Given the description of an element on the screen output the (x, y) to click on. 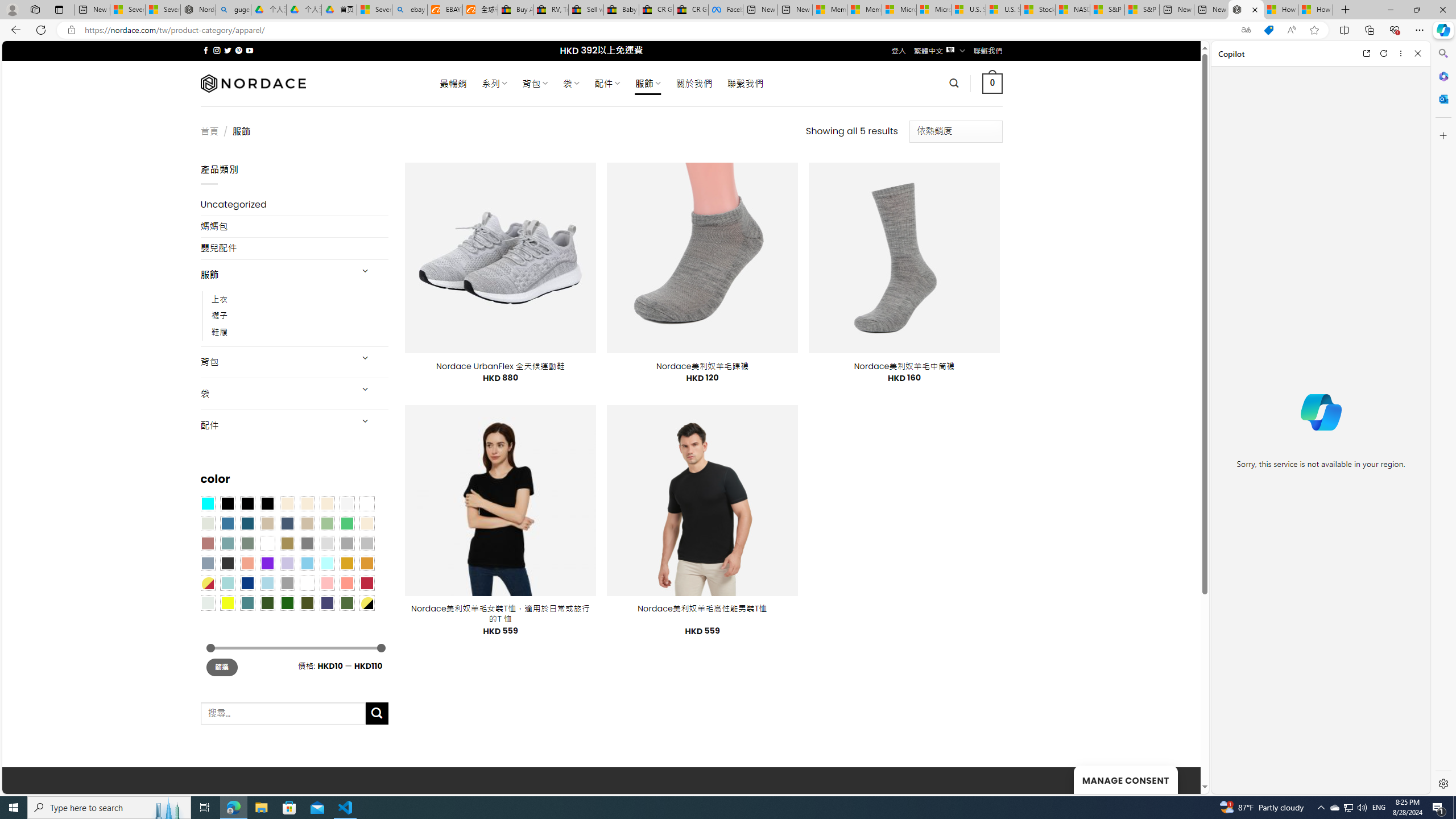
Dull Nickle (207, 602)
Customize (1442, 135)
Follow on Instagram (216, 50)
Outlook (1442, 98)
Follow on Facebook (205, 50)
Show translate options (1245, 29)
